Given the description of an element on the screen output the (x, y) to click on. 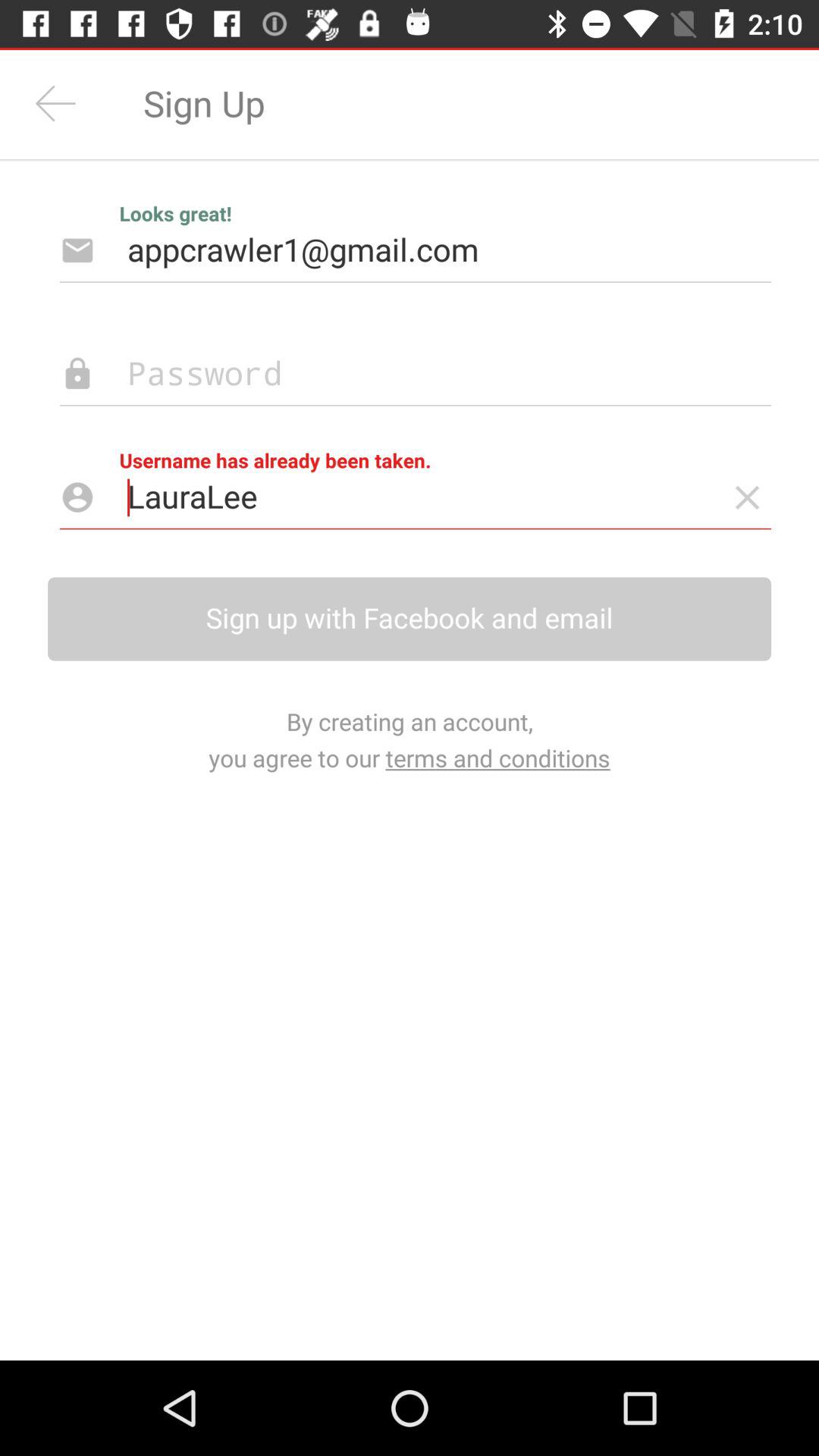
password page (391, 374)
